Given the description of an element on the screen output the (x, y) to click on. 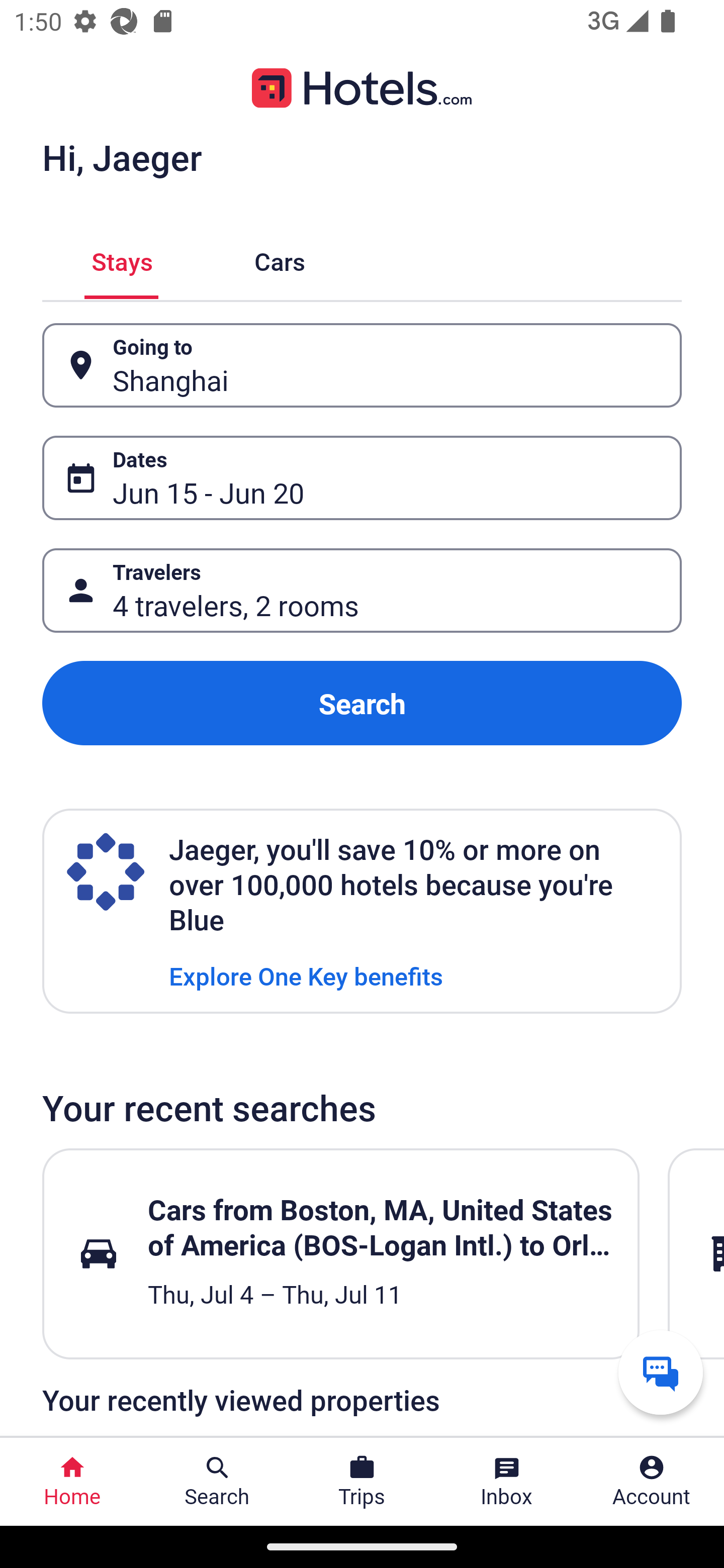
Hi, Jaeger (121, 156)
Cars (279, 259)
Going to Button Shanghai (361, 365)
Dates Button Jun 15 - Jun 20 (361, 477)
Travelers Button 4 travelers, 2 rooms (361, 590)
Search (361, 702)
Get help from a virtual agent (660, 1371)
Search Search Button (216, 1481)
Trips Trips Button (361, 1481)
Inbox Inbox Button (506, 1481)
Account Profile. Button (651, 1481)
